Given the description of an element on the screen output the (x, y) to click on. 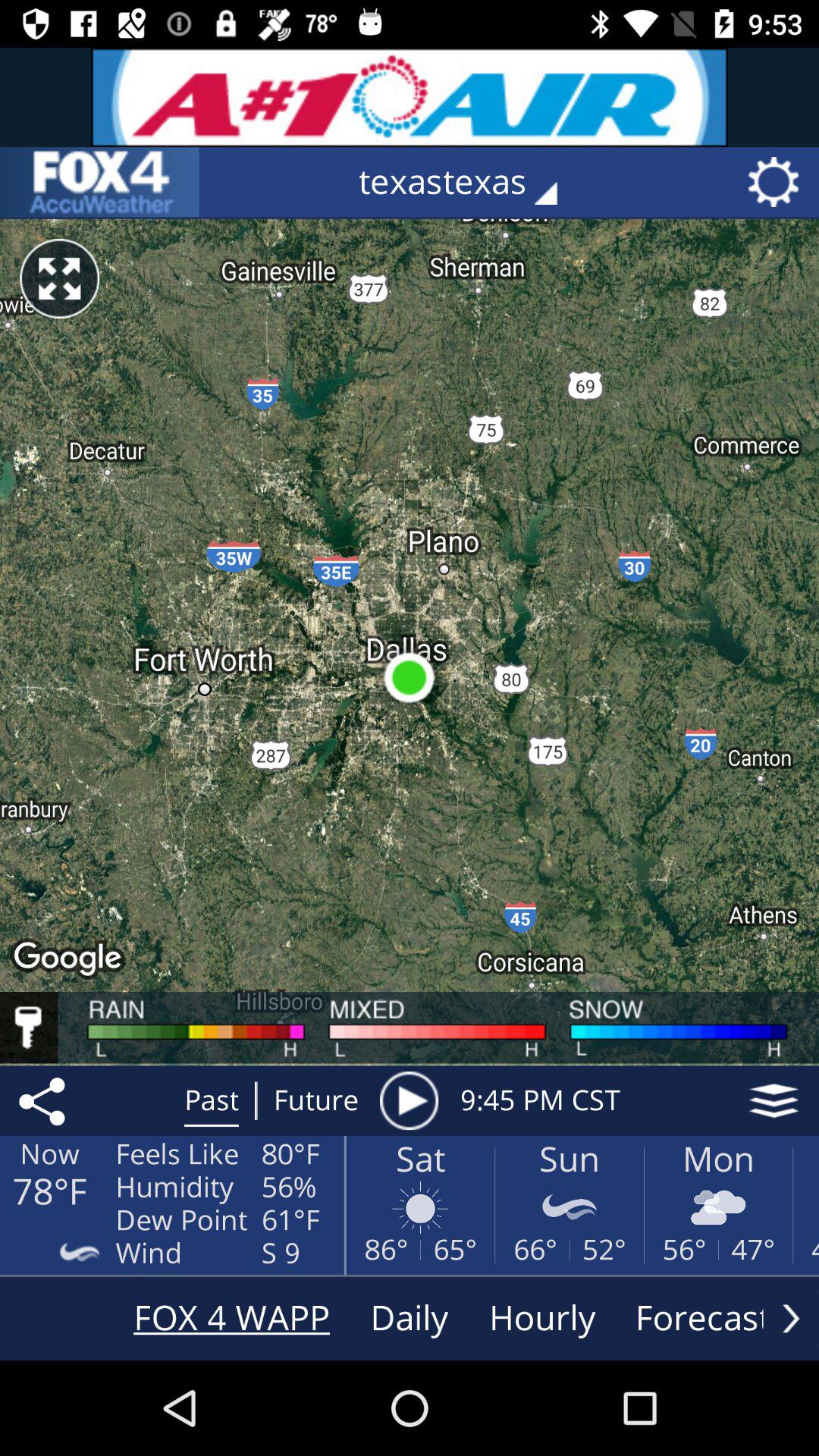
launch the item next to the 9 45 pm (409, 1100)
